Given the description of an element on the screen output the (x, y) to click on. 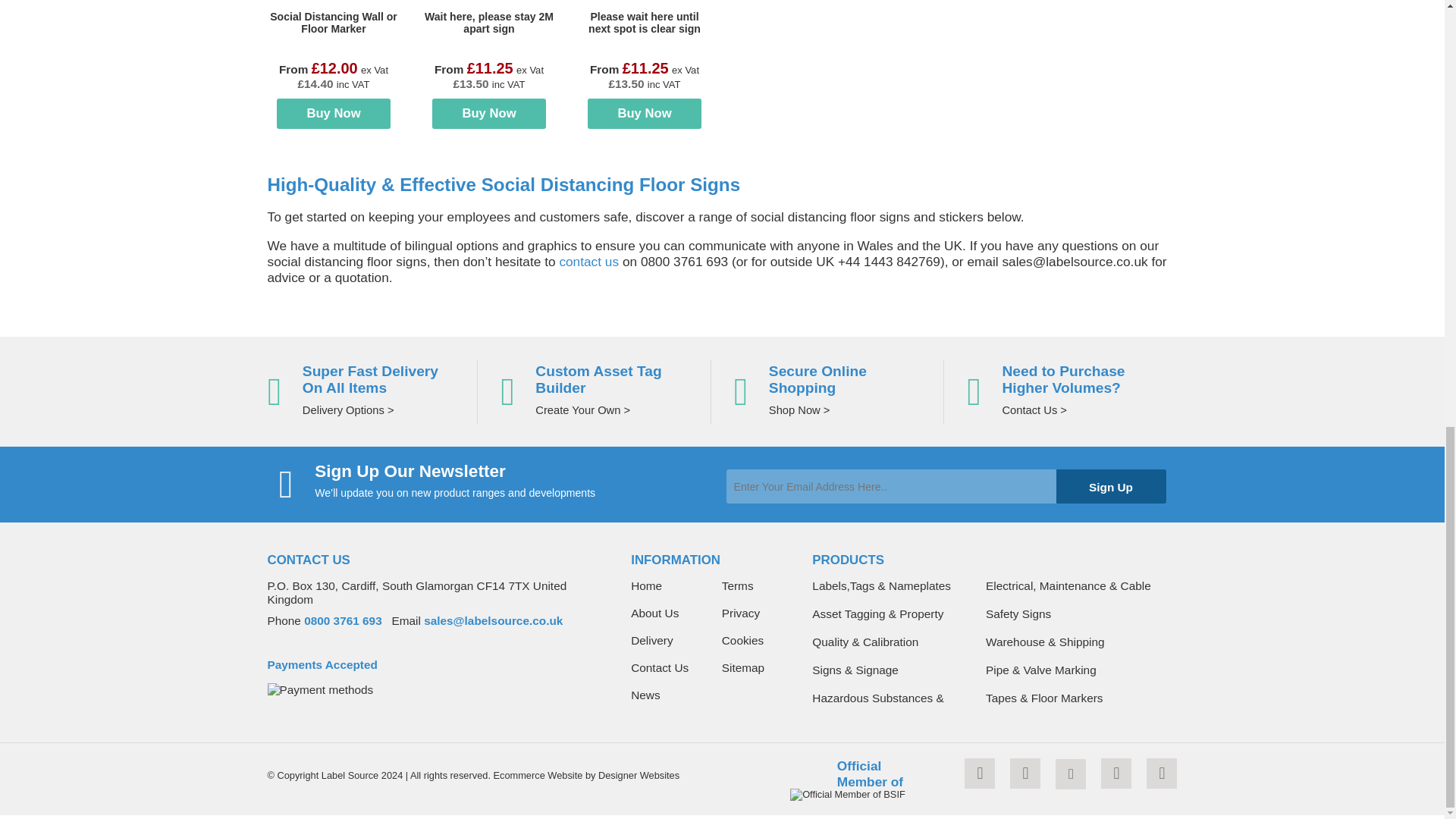
Sign Up (1110, 486)
